Given the description of an element on the screen output the (x, y) to click on. 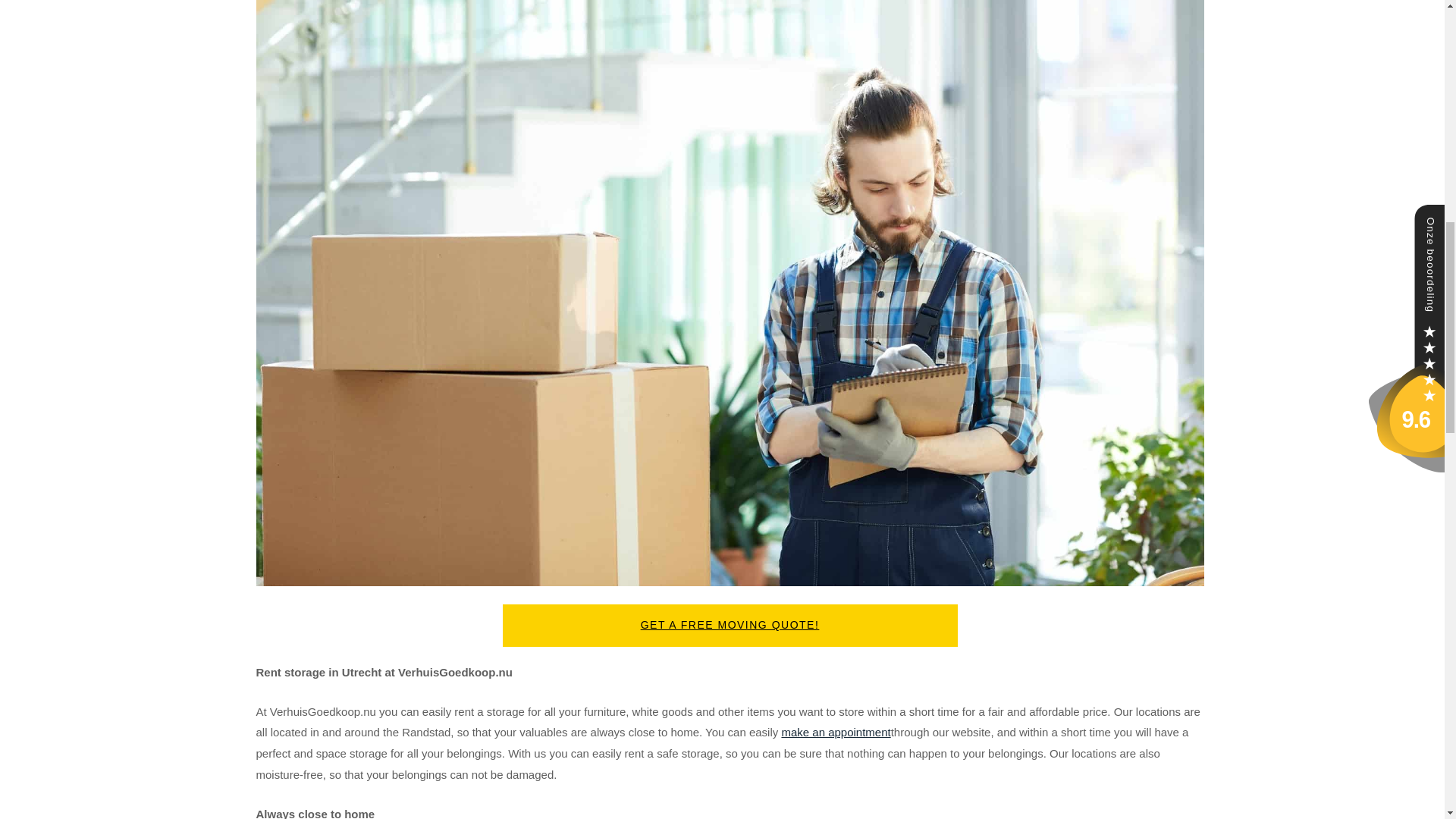
make an appointment (834, 731)
GET A FREE MOVING QUOTE! (729, 625)
